Given the description of an element on the screen output the (x, y) to click on. 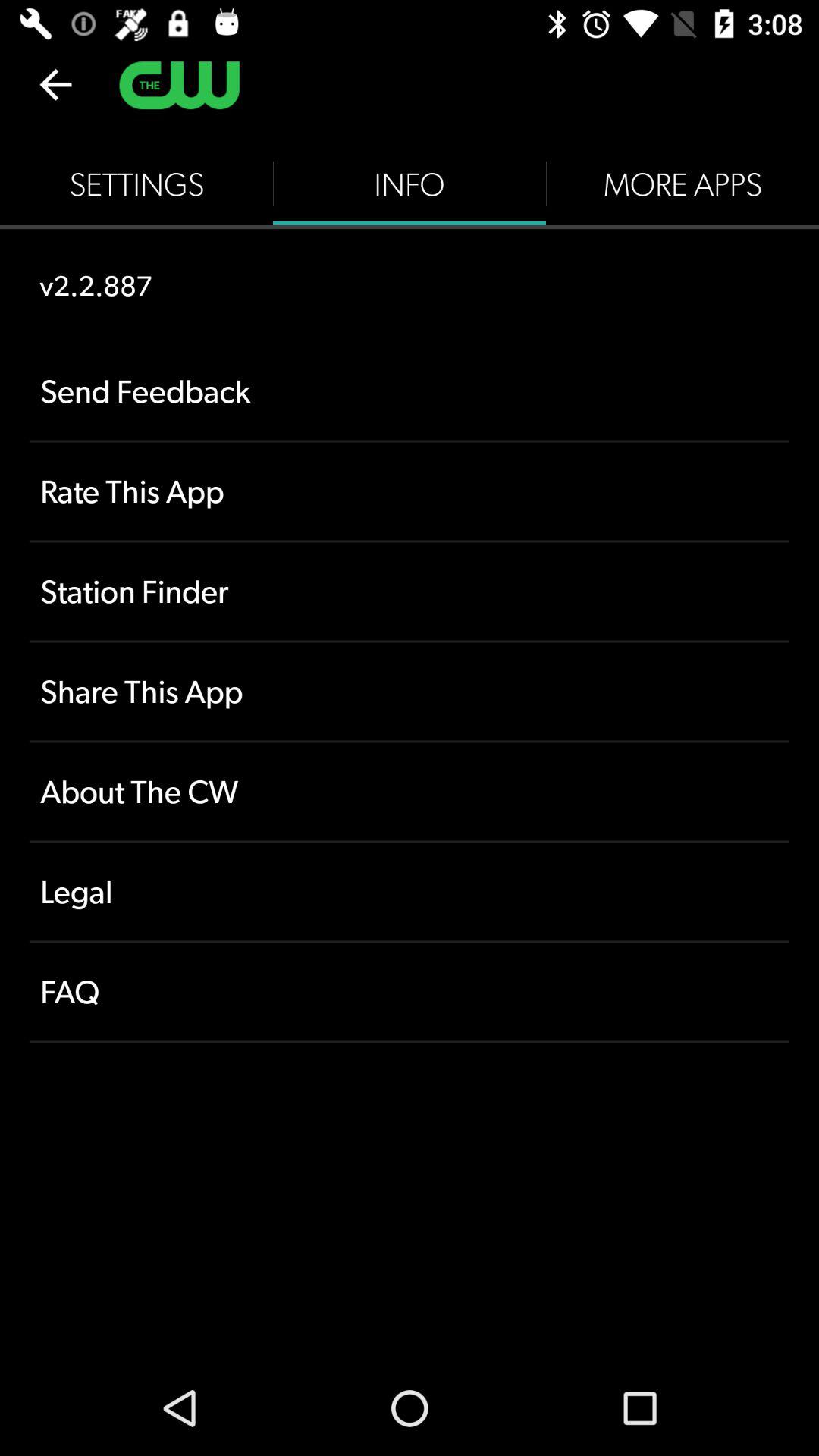
open the item below the rate this app item (409, 591)
